Given the description of an element on the screen output the (x, y) to click on. 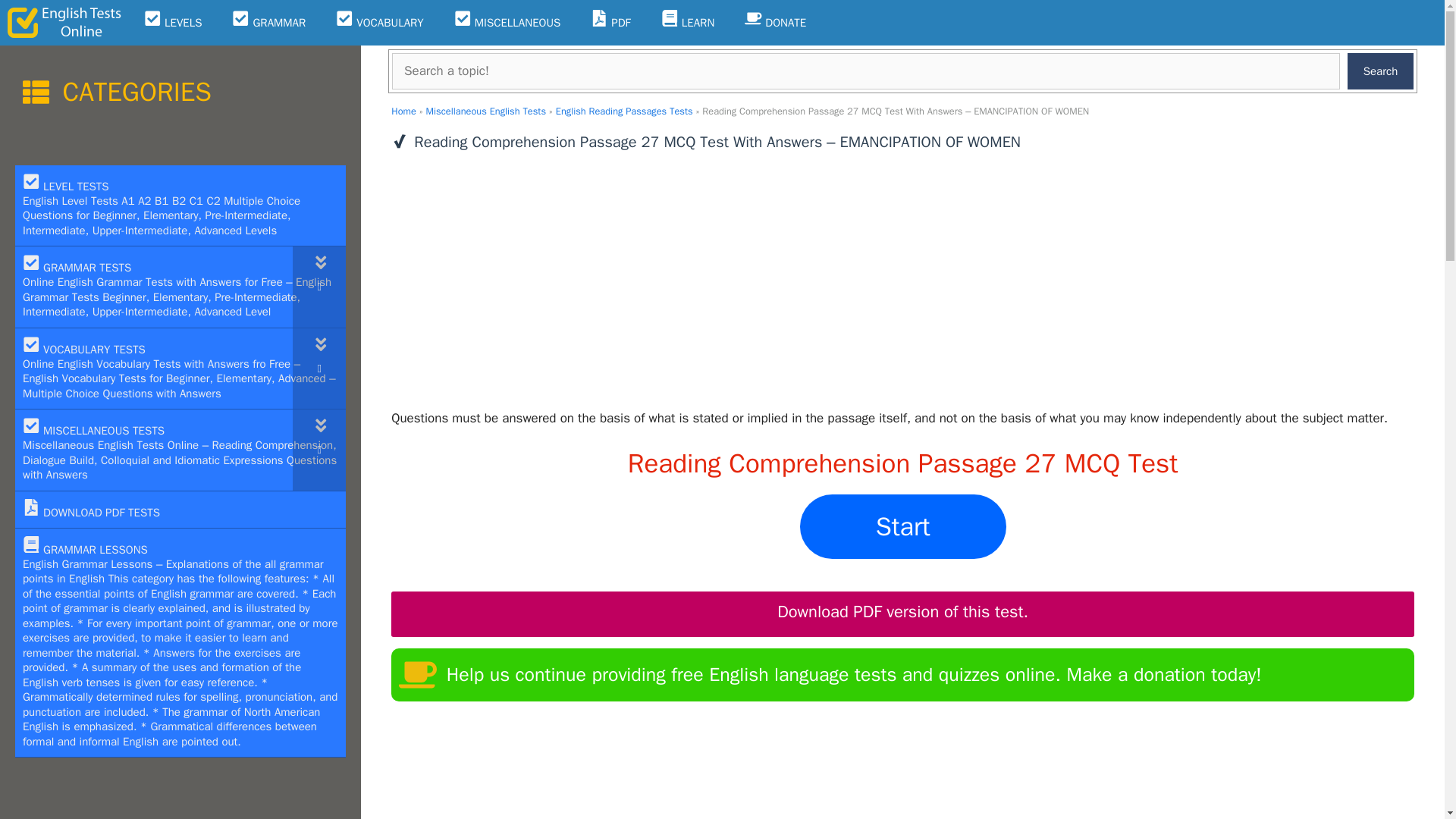
English Tests Online (63, 22)
VOCABULARY (379, 22)
English Reading Passages Tests (624, 110)
LEVELS (172, 22)
Miscellaneous English Tests (486, 110)
MISCELLANEOUS (507, 22)
LEARN (687, 22)
GRAMMAR (268, 22)
Home (403, 110)
